Given the description of an element on the screen output the (x, y) to click on. 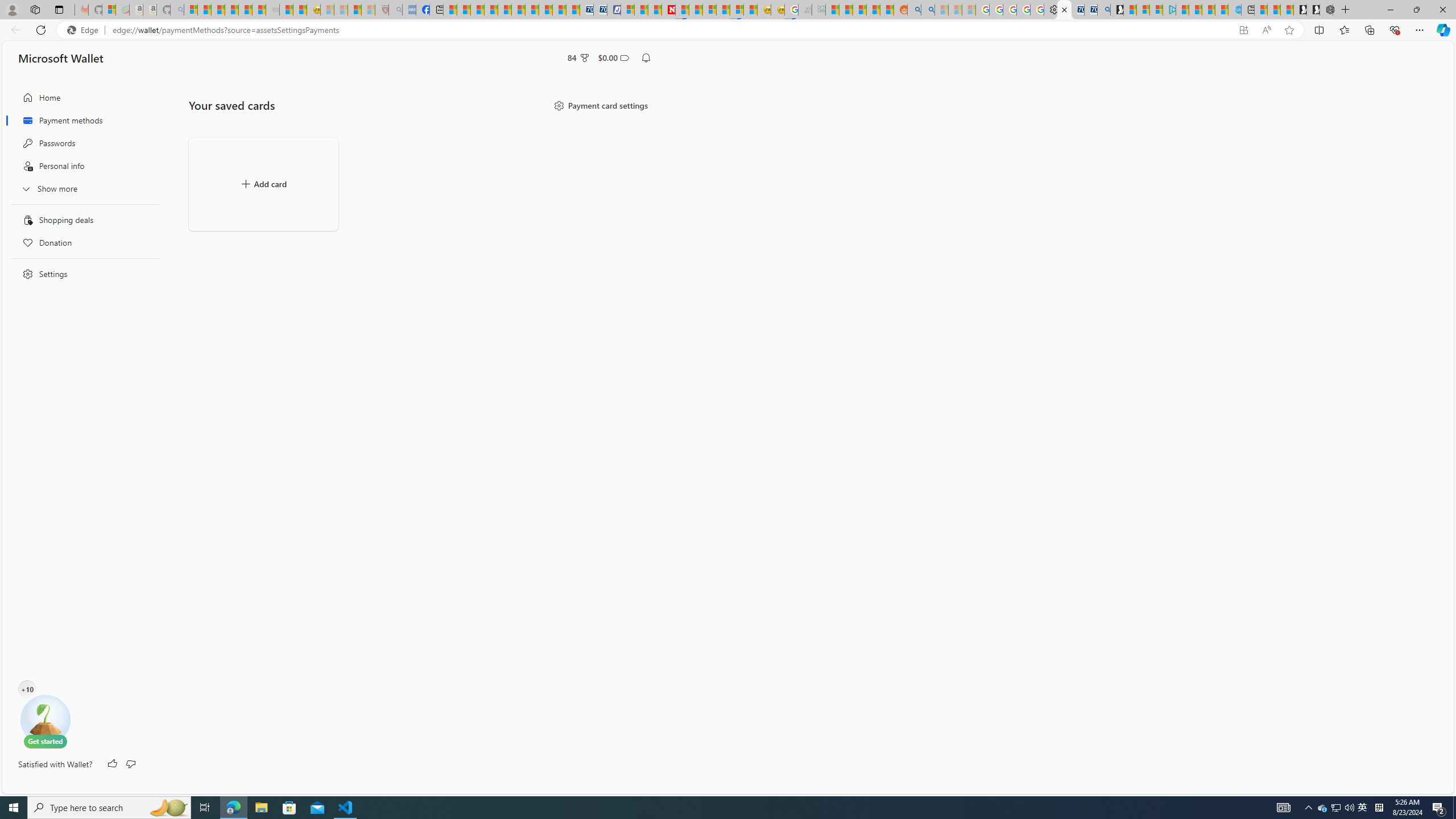
App available. Install Microsoft Wallet (1243, 29)
Microsoft Cashback - $0.00 (613, 57)
The Weather Channel - MSN (218, 9)
Edge (84, 29)
Newsweek - News, Analysis, Politics, Business, Technology (667, 9)
Microsoft Rewards - 84 points (578, 57)
